Given the description of an element on the screen output the (x, y) to click on. 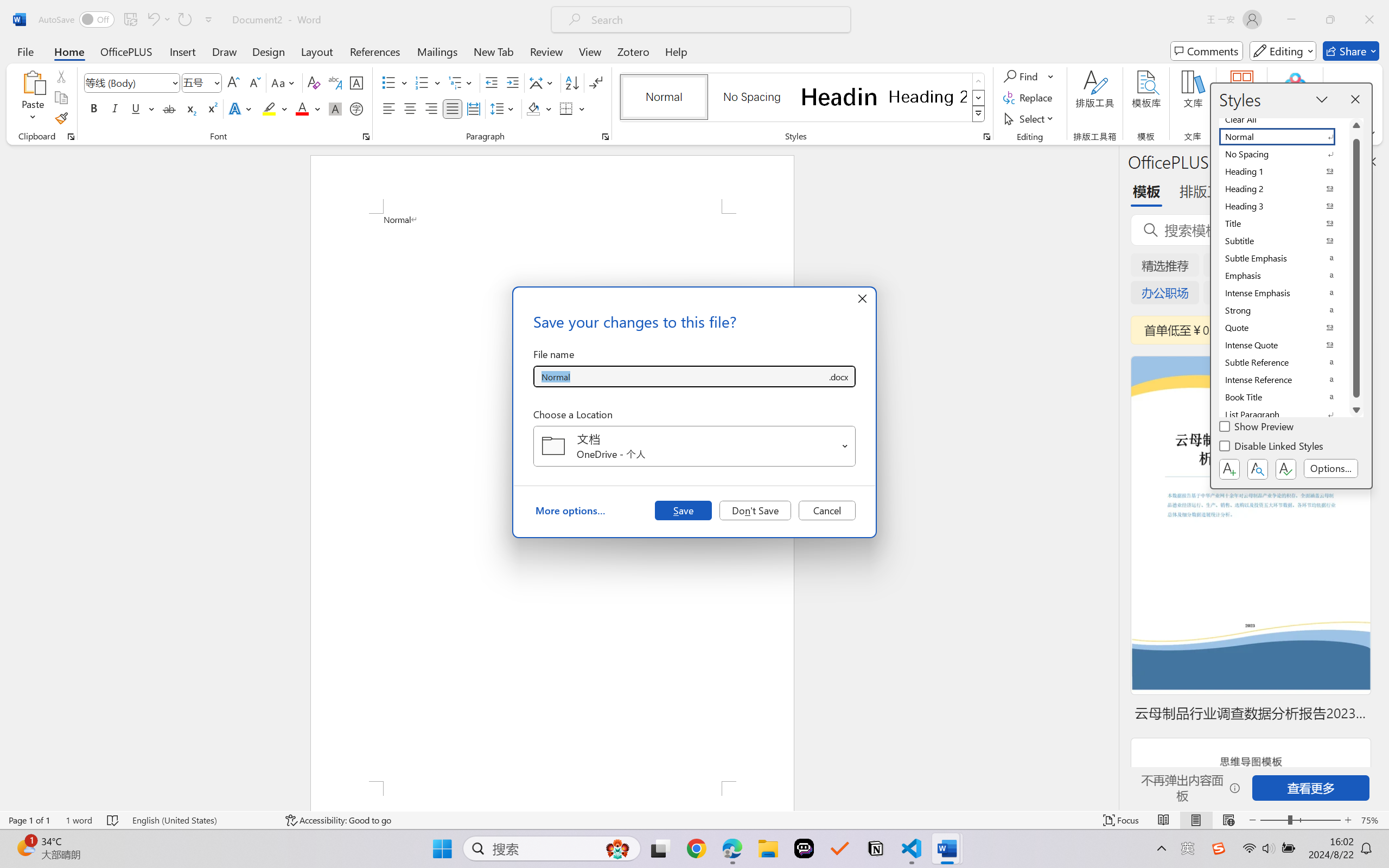
Underline (135, 108)
Show/Hide Editing Marks (595, 82)
Heading 1 (839, 96)
Paste (33, 81)
Quick Access Toolbar (127, 19)
Zoom Out (1273, 819)
New Tab (493, 51)
Zoom (1300, 819)
Find (1029, 75)
Restore Down (1330, 19)
Zoom In (1348, 819)
Borders (566, 108)
Strong (1283, 310)
